Given the description of an element on the screen output the (x, y) to click on. 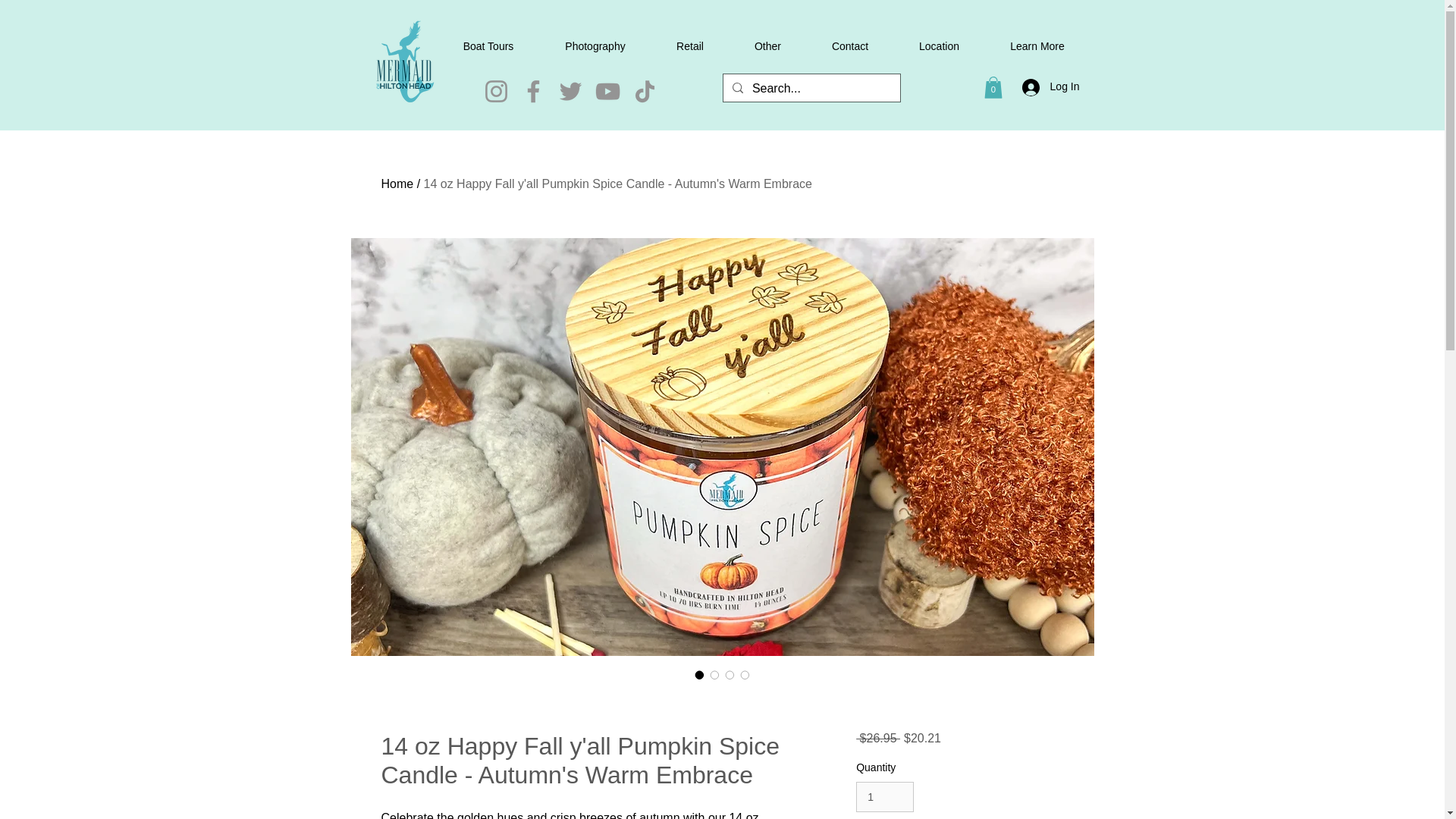
Boat Tours (487, 46)
Other (767, 46)
Location (938, 46)
1 (885, 797)
Learn More (1036, 46)
Retail (689, 46)
Photography (595, 46)
Contact (849, 46)
